Given the description of an element on the screen output the (x, y) to click on. 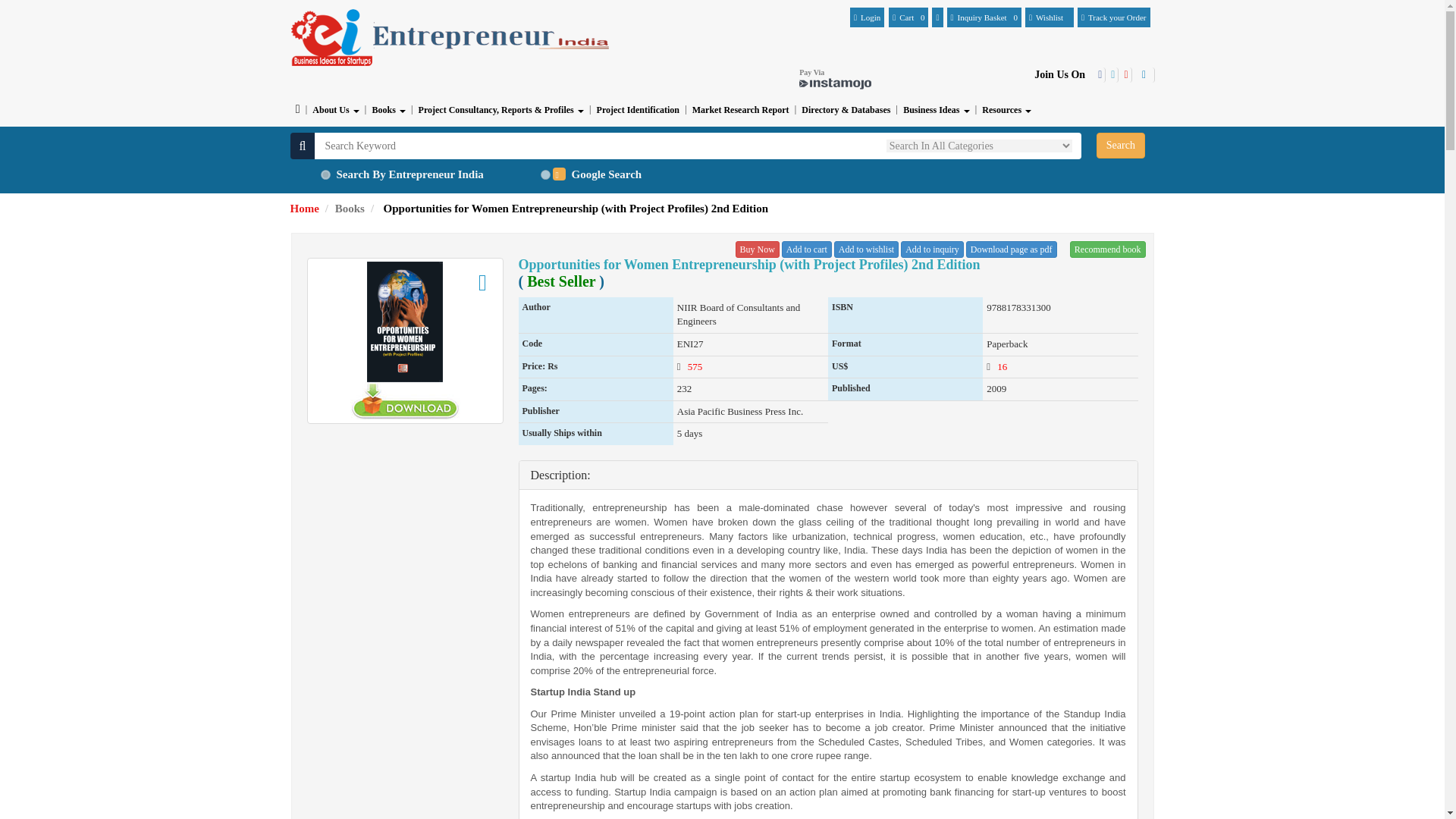
Cart Item (908, 17)
Cart 0 (908, 17)
Inquiry Basket 0 (984, 17)
Linkdin (1144, 74)
rbGoogle (545, 174)
Project Identification (637, 109)
Login (866, 17)
Market Research Report (740, 109)
Track your Order (1113, 17)
Wishlist (1049, 17)
